Given the description of an element on the screen output the (x, y) to click on. 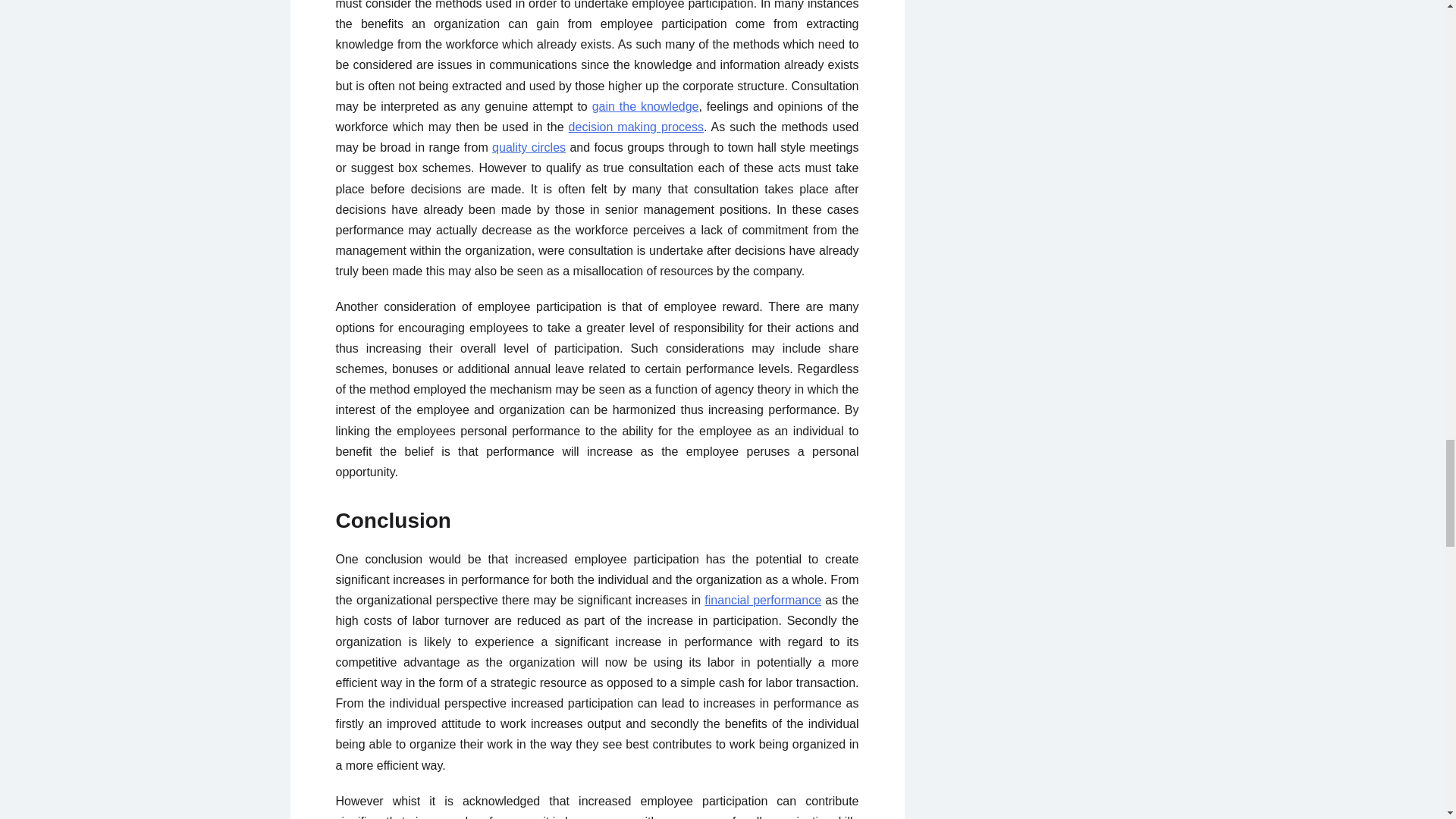
gain the knowledge (645, 106)
decision making process (636, 126)
quality circles (529, 146)
financial performance (762, 599)
